Given the description of an element on the screen output the (x, y) to click on. 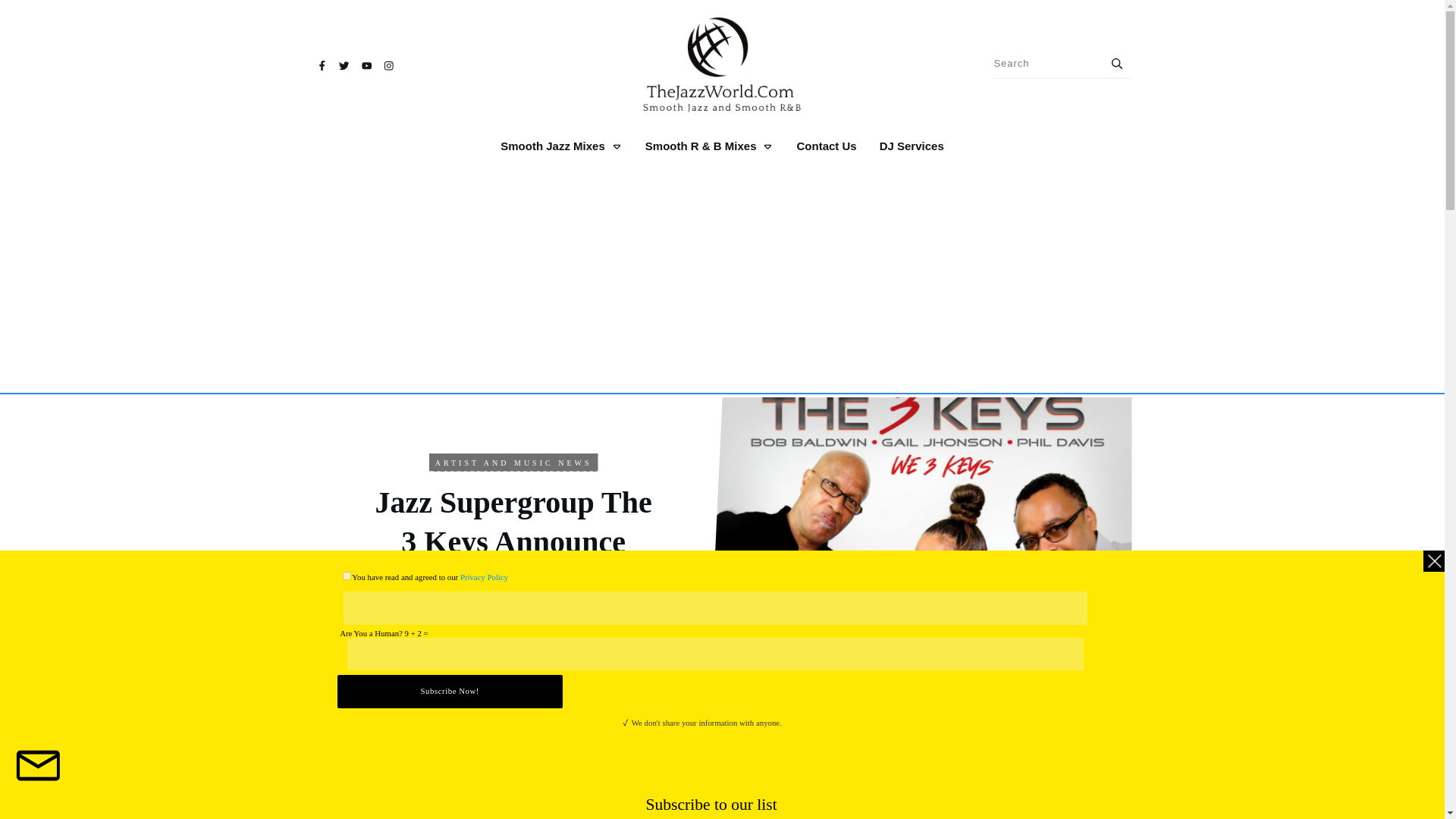
Subscribe Now! (449, 690)
Smooth Jazz Mixes (561, 146)
DJ Services (911, 146)
1 (347, 575)
Contact Us (826, 146)
